Given the description of an element on the screen output the (x, y) to click on. 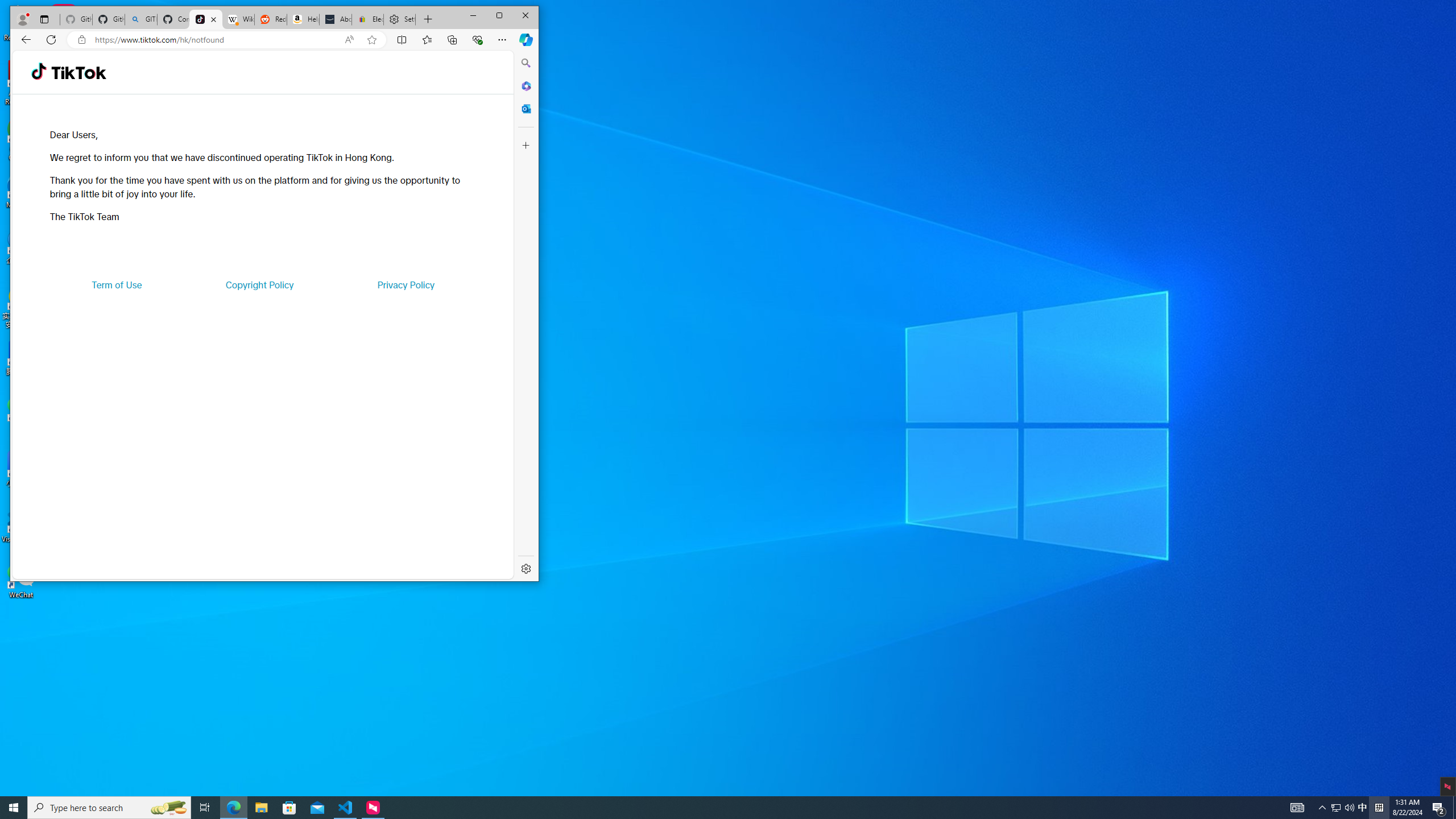
Privacy Policy (405, 284)
Term of Use (116, 284)
GITHUB - Search (140, 19)
